Given the description of an element on the screen output the (x, y) to click on. 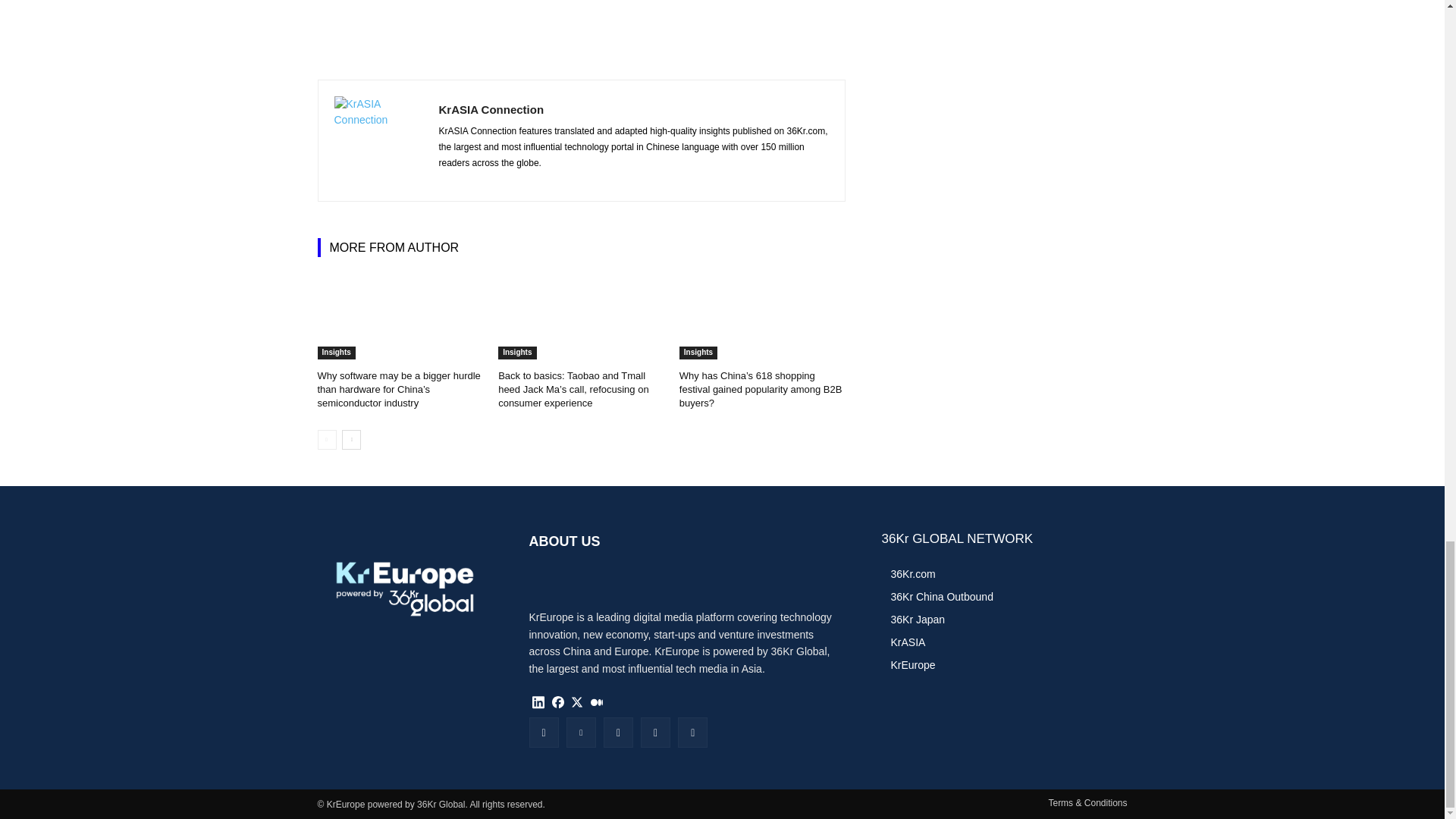
KrASIA Connection (377, 140)
